Given the description of an element on the screen output the (x, y) to click on. 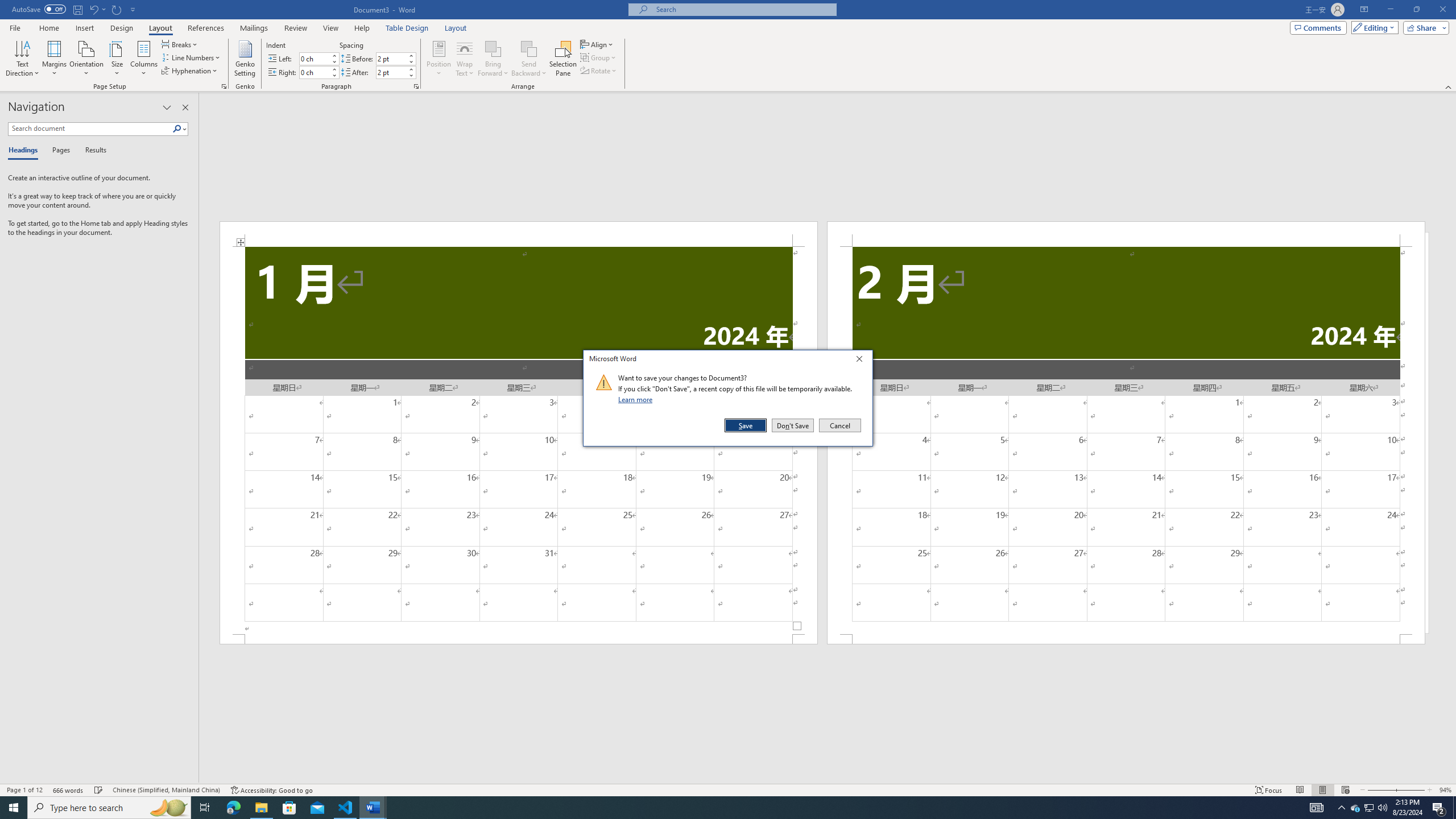
Results (91, 150)
Align (597, 44)
Microsoft Store (289, 807)
Columns (143, 58)
Customize Quick Access Toolbar (133, 9)
Table Design (407, 28)
Insert (83, 28)
Repeat Doc Close (117, 9)
Zoom In (1410, 790)
File Explorer - 1 running window (261, 807)
Pages (59, 150)
Web Layout (1344, 790)
Word Count 666 words (1355, 807)
